Given the description of an element on the screen output the (x, y) to click on. 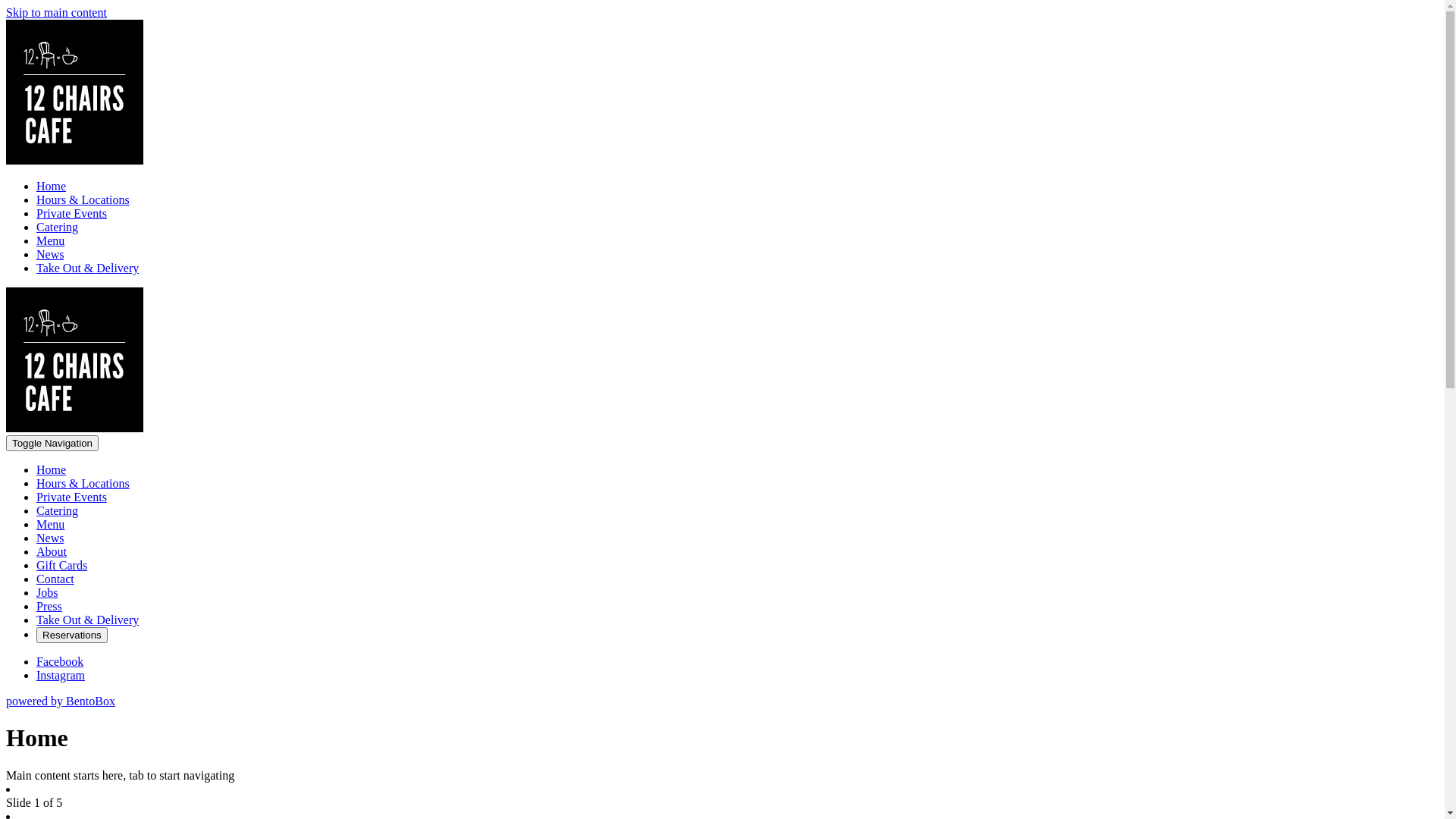
Skip to main content Element type: text (56, 12)
Hours & Locations Element type: text (82, 199)
Menu Element type: text (50, 240)
Take Out & Delivery Element type: text (87, 619)
Catering Element type: text (57, 226)
Instagram Element type: text (60, 674)
Gift Cards Element type: text (61, 564)
Home Element type: text (50, 185)
powered by BentoBox Element type: text (60, 700)
Hours & Locations Element type: text (82, 482)
Private Events Element type: text (71, 496)
Contact Element type: text (55, 578)
News Element type: text (49, 253)
Reservations Element type: text (71, 635)
Facebook Element type: text (59, 661)
News Element type: text (49, 537)
About Element type: text (51, 551)
Toggle Navigation Element type: text (52, 443)
Press Element type: text (49, 605)
Take Out & Delivery Element type: text (87, 267)
Private Events Element type: text (71, 213)
Jobs Element type: text (46, 592)
Home Element type: text (50, 469)
Catering Element type: text (57, 510)
Menu Element type: text (50, 523)
